Given the description of an element on the screen output the (x, y) to click on. 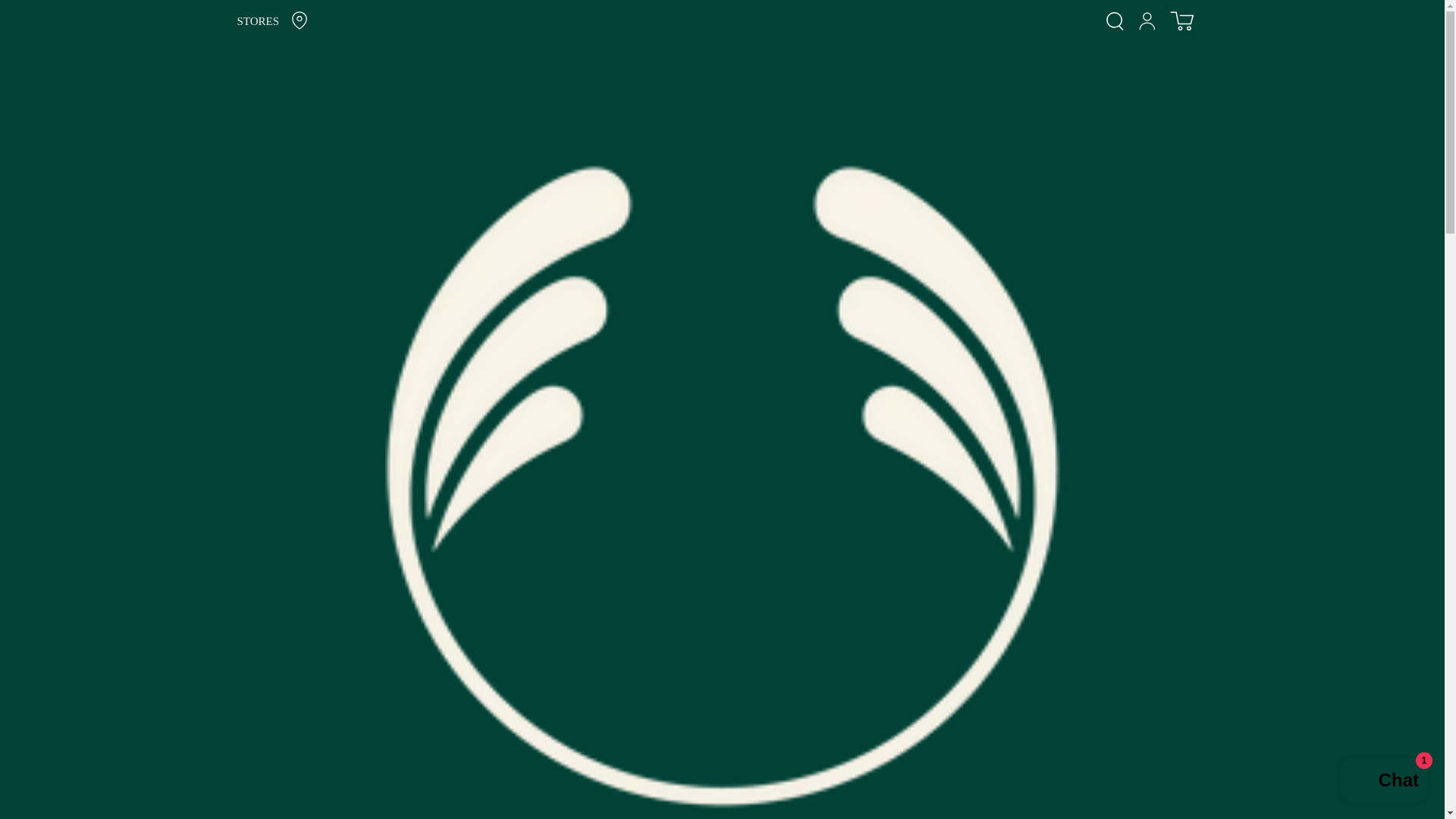
STORES (397, 20)
